Given the description of an element on the screen output the (x, y) to click on. 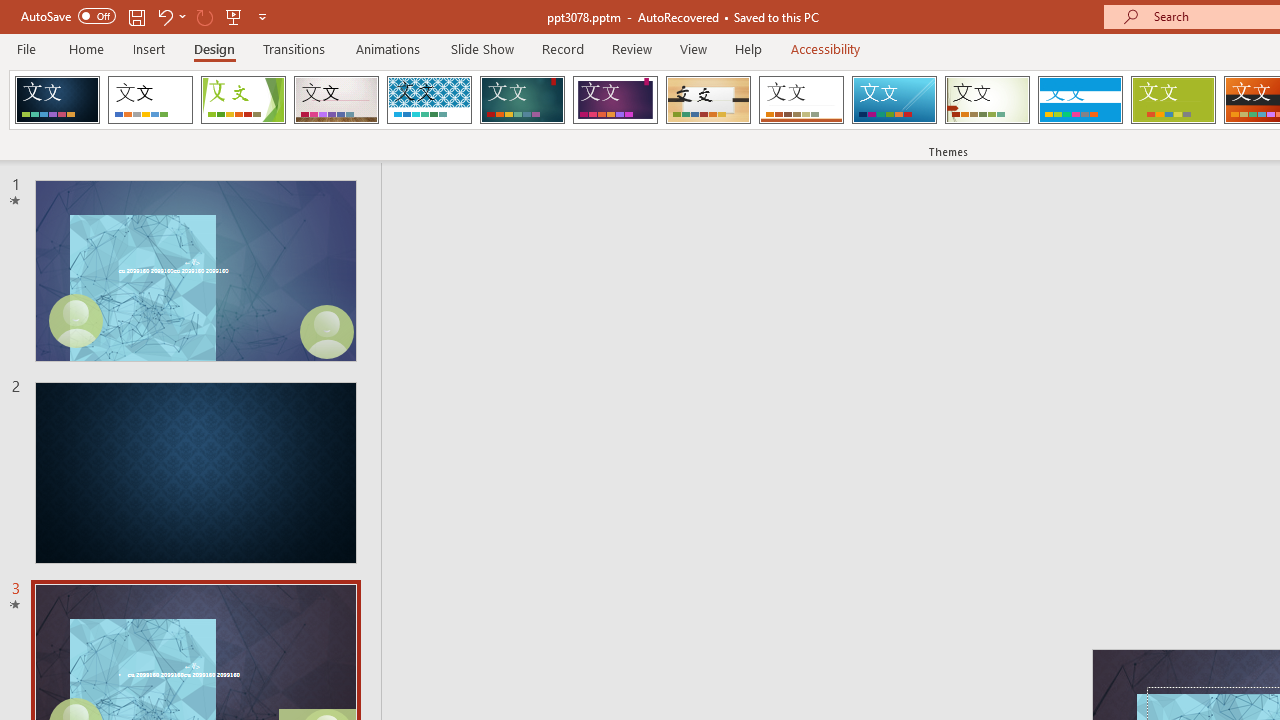
Gallery (336, 100)
Facet (243, 100)
Organic (708, 100)
